Given the description of an element on the screen output the (x, y) to click on. 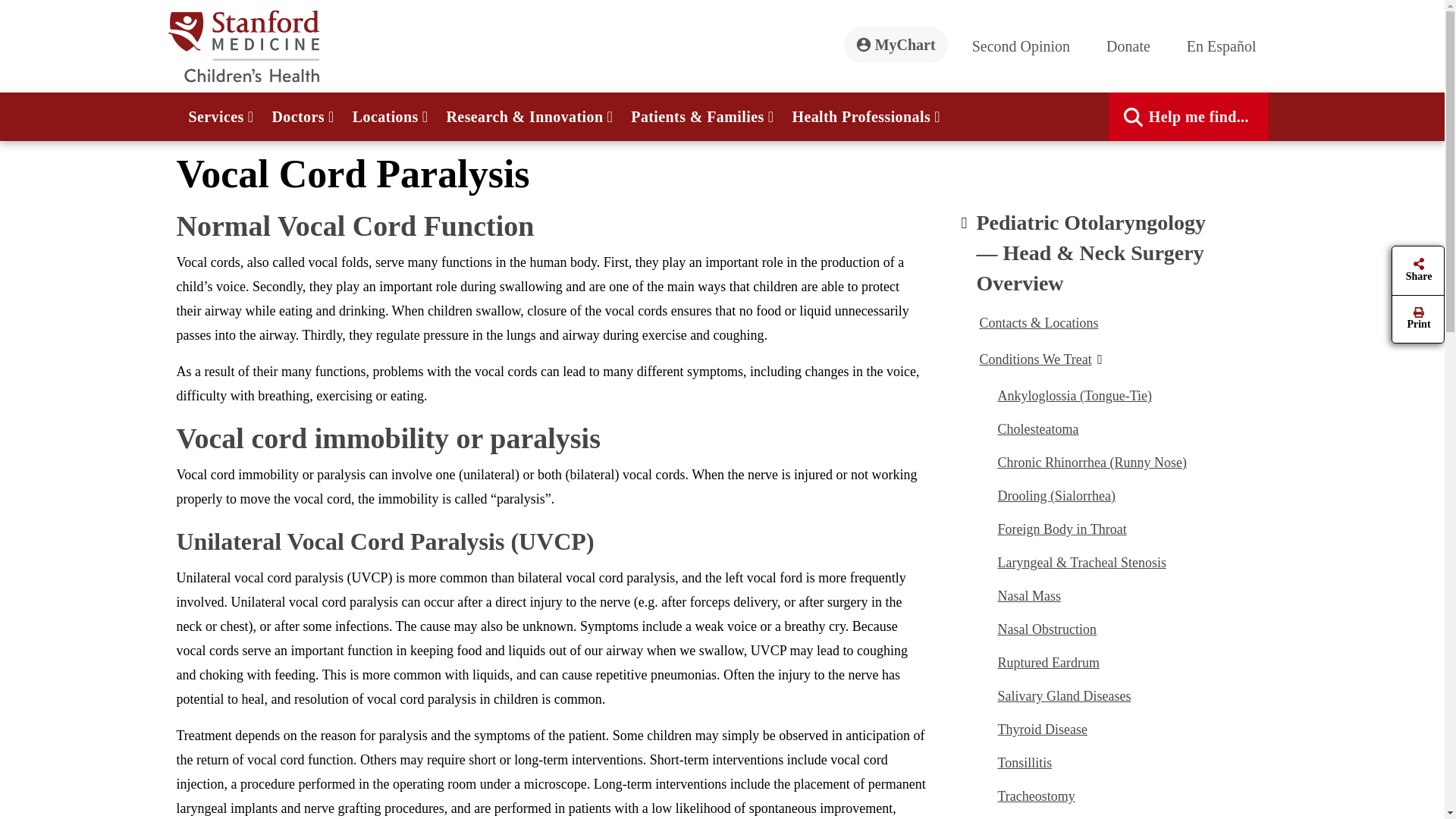
MyChart (895, 44)
Donate (1133, 46)
Second Opinion (1026, 46)
